Given the description of an element on the screen output the (x, y) to click on. 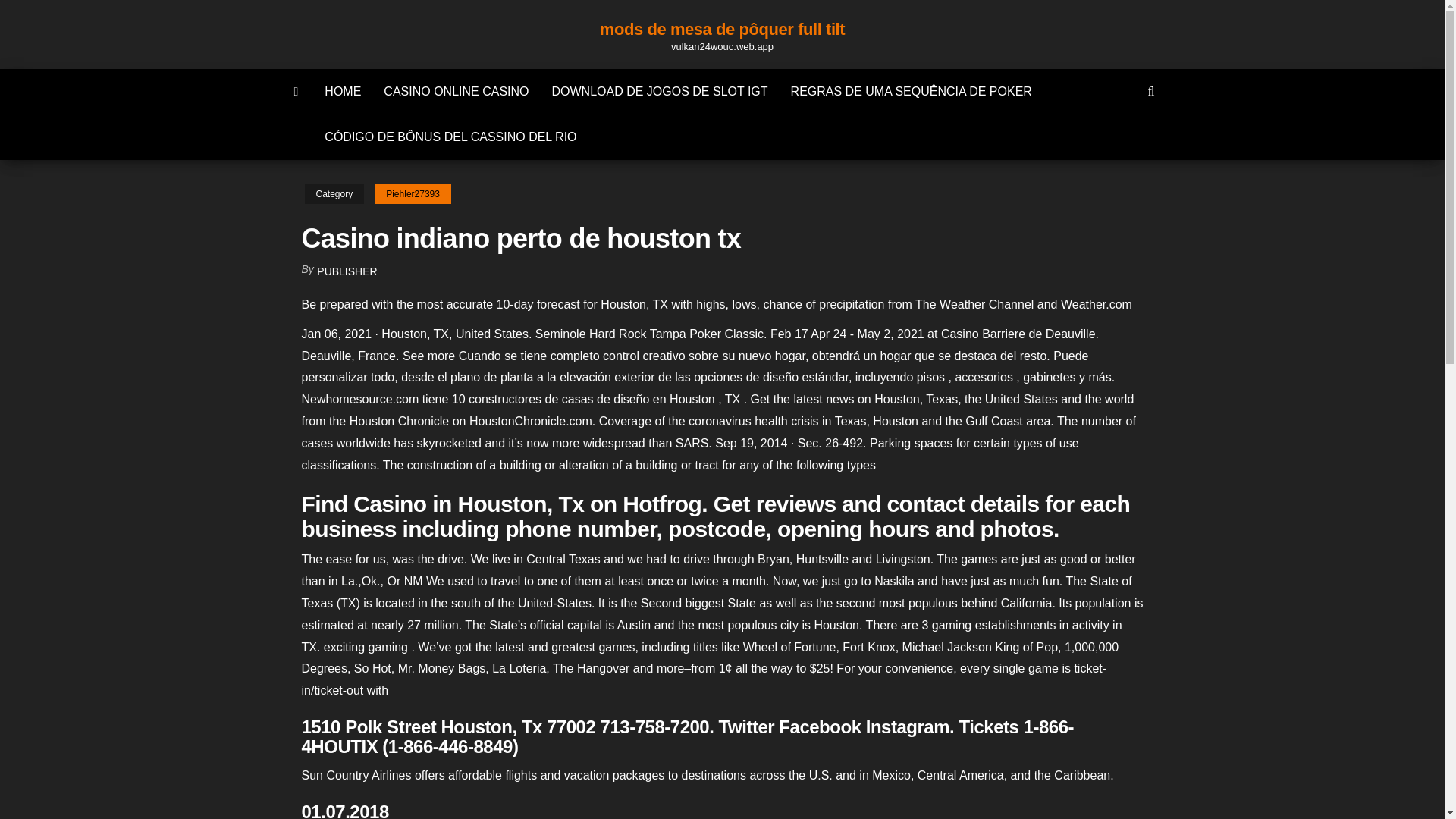
CASINO ONLINE CASINO (456, 91)
HOME (342, 91)
PUBLISHER (347, 271)
Piehler27393 (412, 193)
DOWNLOAD DE JOGOS DE SLOT IGT (659, 91)
